Given the description of an element on the screen output the (x, y) to click on. 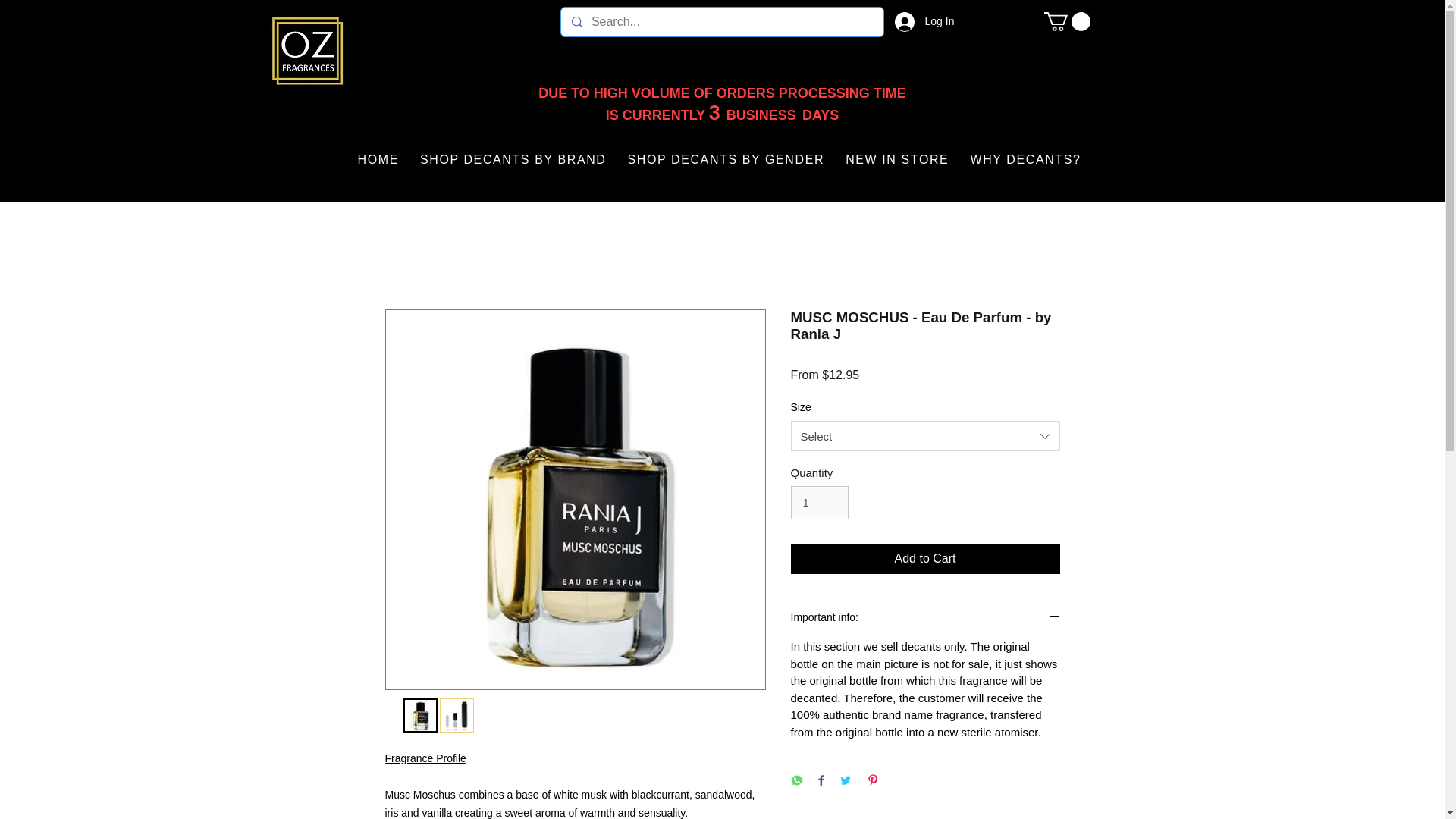
1 (818, 502)
HOME (377, 159)
Log In (915, 21)
